Given the description of an element on the screen output the (x, y) to click on. 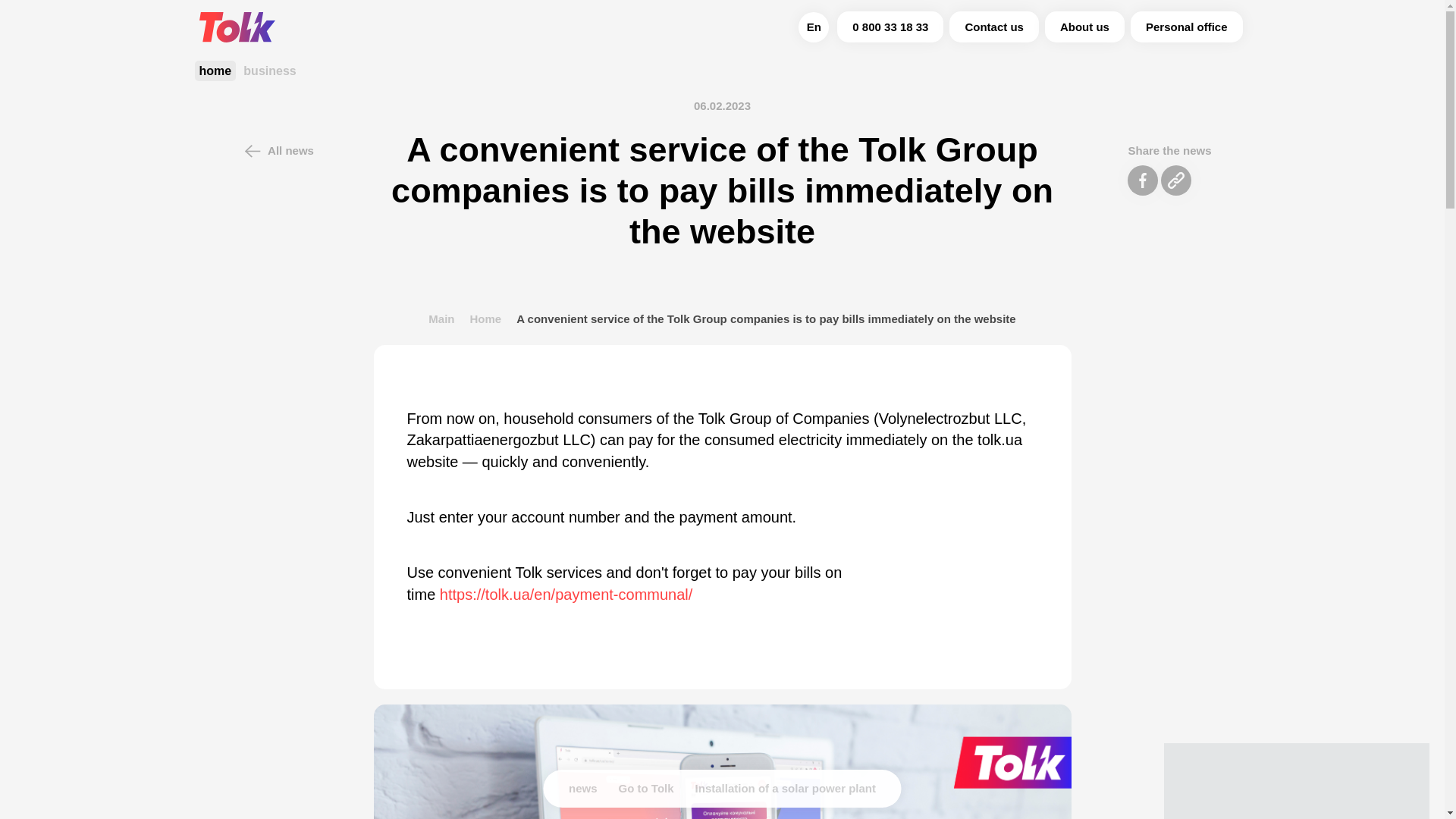
About us (1084, 26)
Contact us (994, 26)
All news (274, 151)
home (214, 70)
0 800 33 18 33 (890, 26)
Main (440, 318)
business (268, 70)
Personal office (1187, 26)
Home (484, 318)
